Given the description of an element on the screen output the (x, y) to click on. 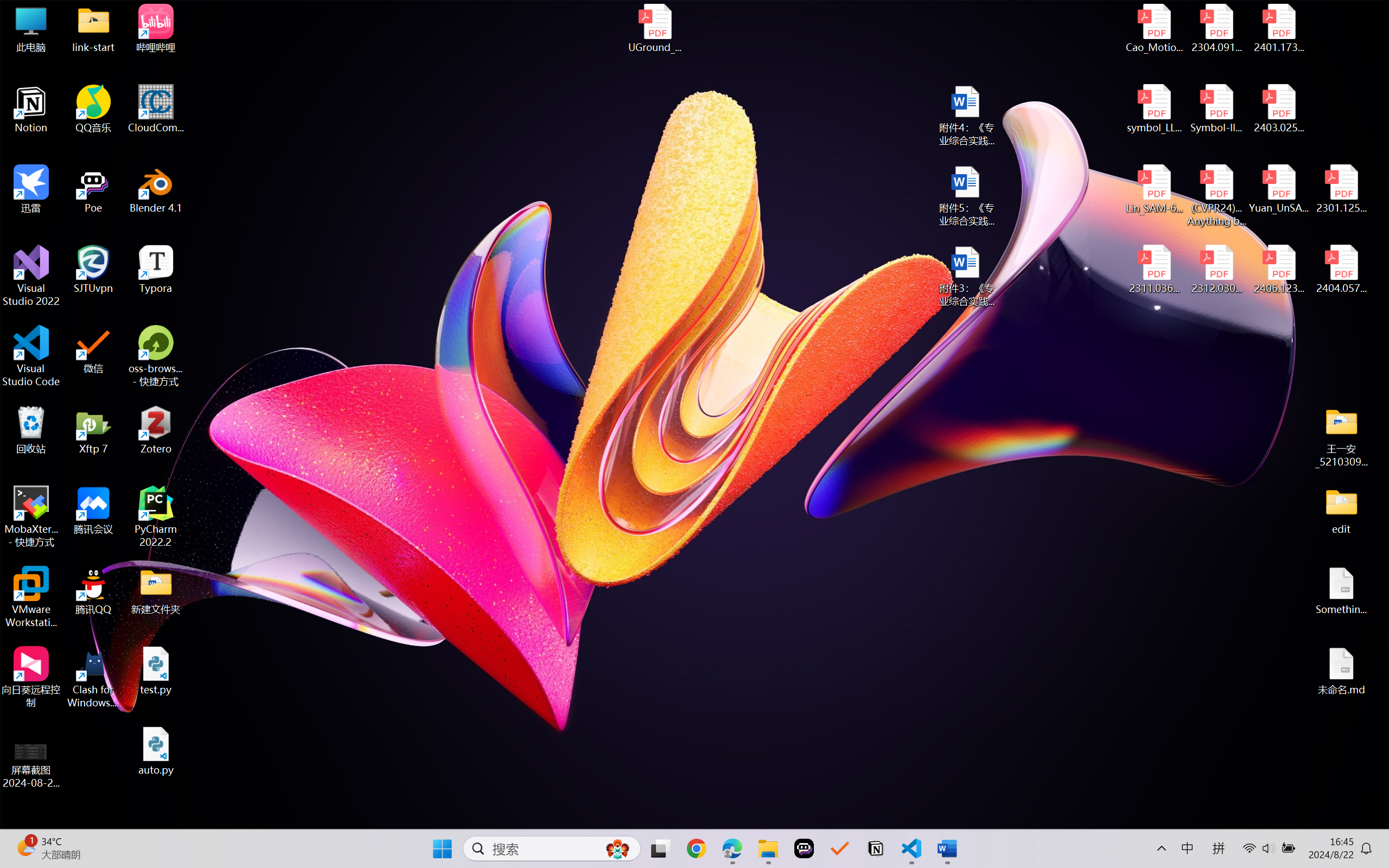
Typora (156, 269)
2311.03658v2.pdf (1154, 269)
PyCharm 2022.2 (156, 516)
